Given the description of an element on the screen output the (x, y) to click on. 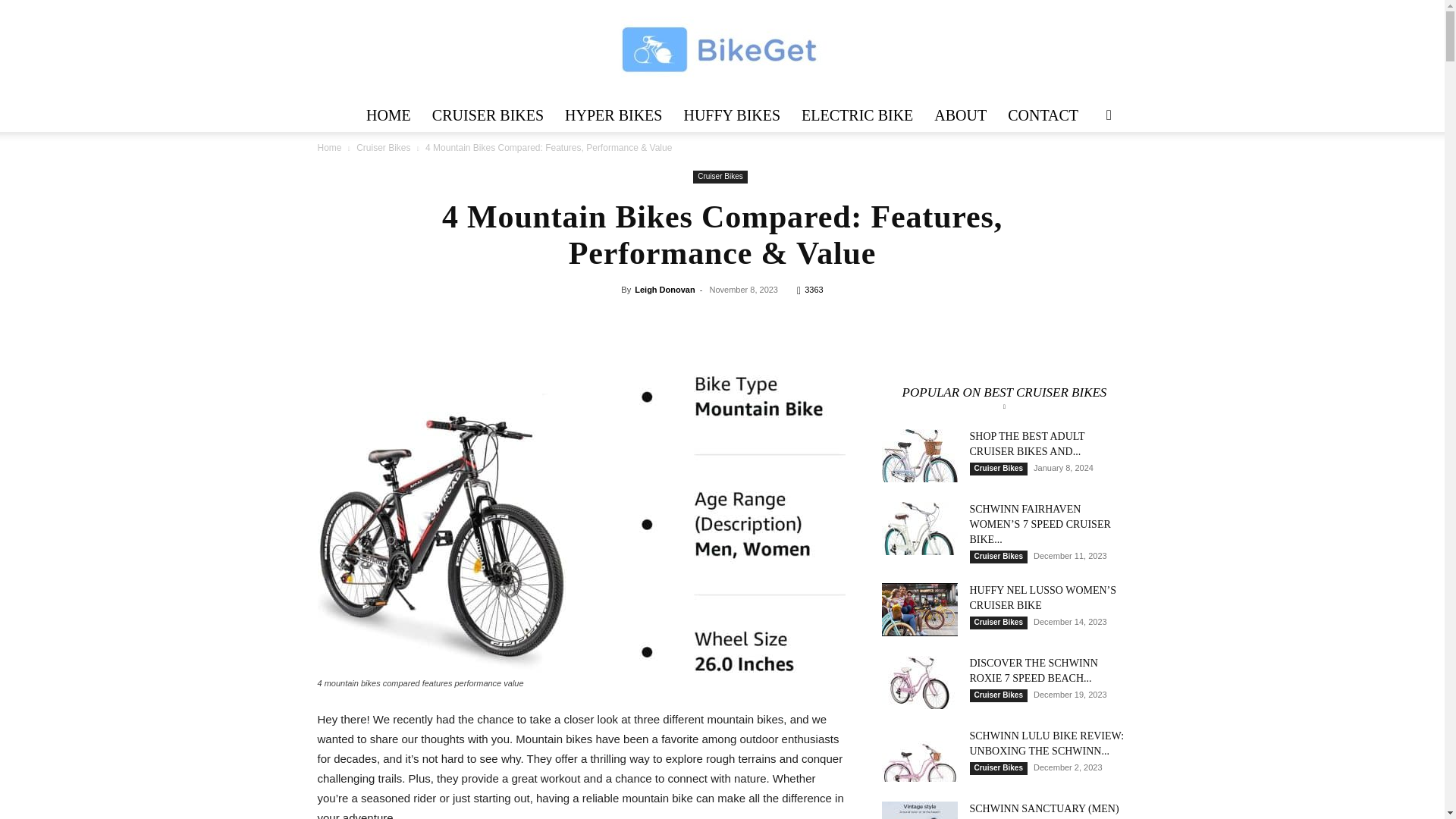
ABOUT (960, 114)
View all posts in Cruiser Bikes (383, 147)
Home (328, 147)
CRUISER BIKES (488, 114)
Cruiser Bikes (719, 176)
CONTACT (1043, 114)
Leigh Donovan (664, 289)
HUFFY BIKES (731, 114)
HYPER BIKES (613, 114)
Search (1085, 174)
